Given the description of an element on the screen output the (x, y) to click on. 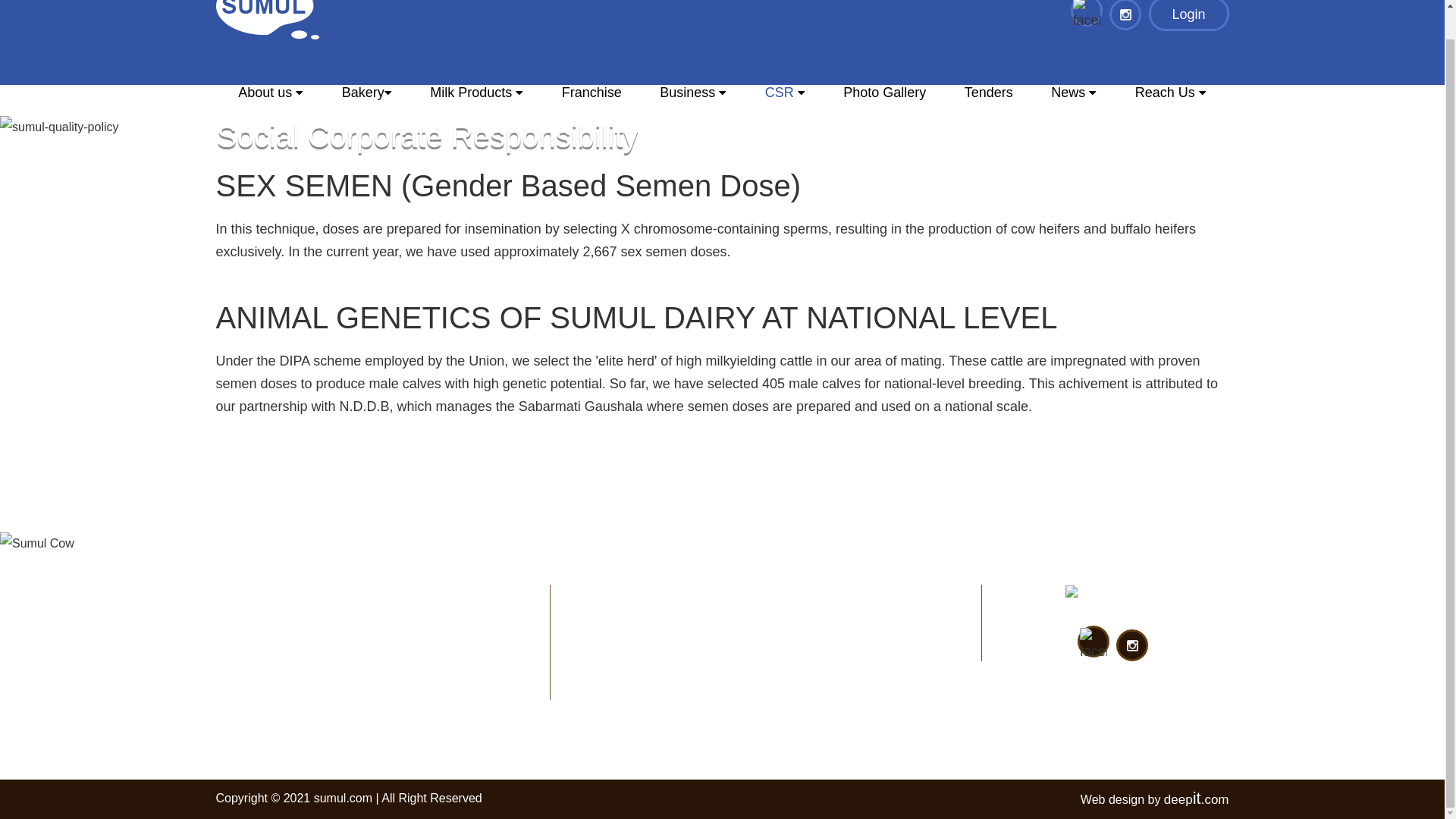
Sumul Brand (1110, 596)
facebook (1086, 15)
instagram (1131, 645)
instagram (1125, 13)
Bakery (366, 98)
About us (270, 98)
facebook (1093, 645)
sumul-quality-policy (59, 127)
Login (1188, 15)
Sumul Brand (266, 19)
